Given the description of an element on the screen output the (x, y) to click on. 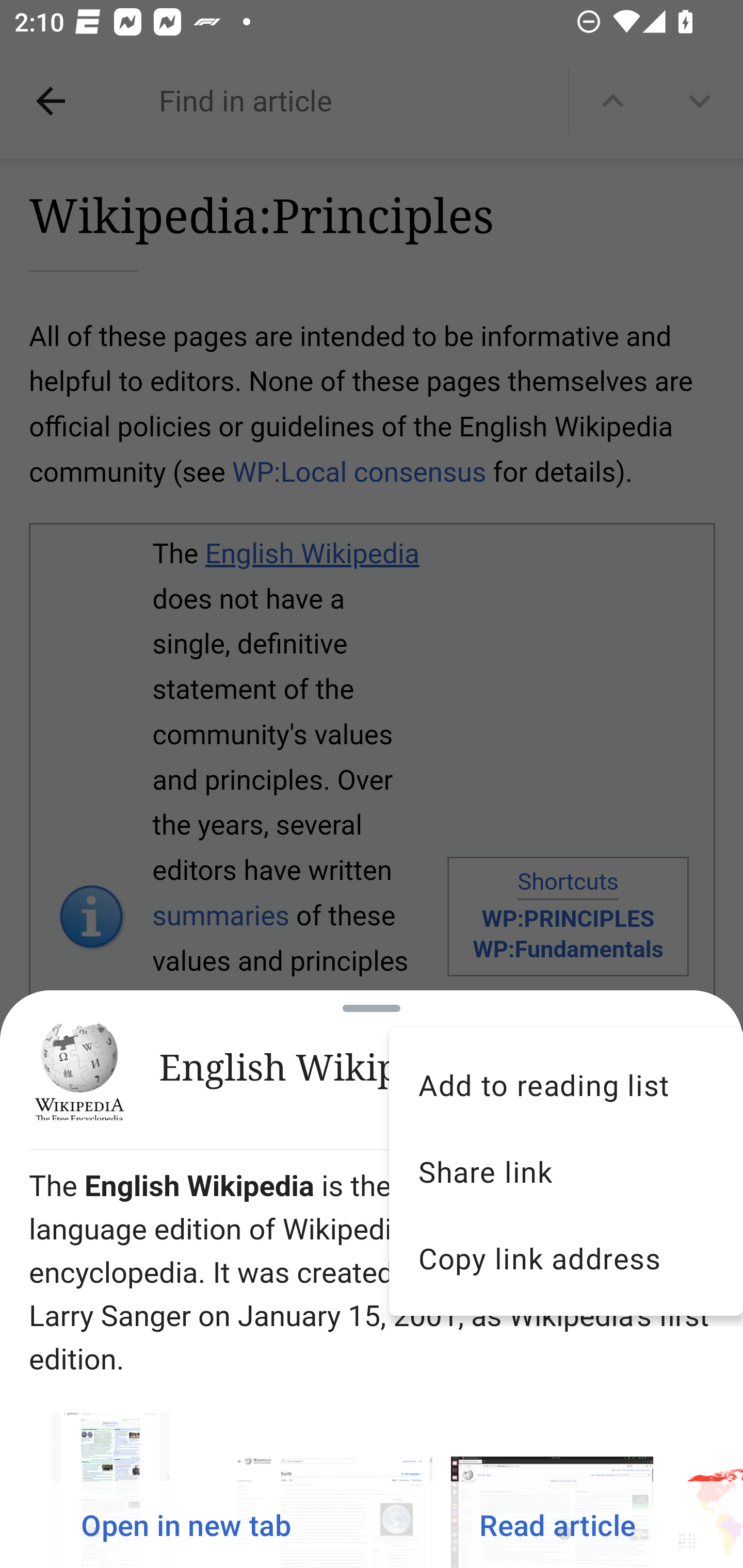
Add to reading list (566, 1084)
Share link (566, 1171)
Copy link address (566, 1258)
